Given the description of an element on the screen output the (x, y) to click on. 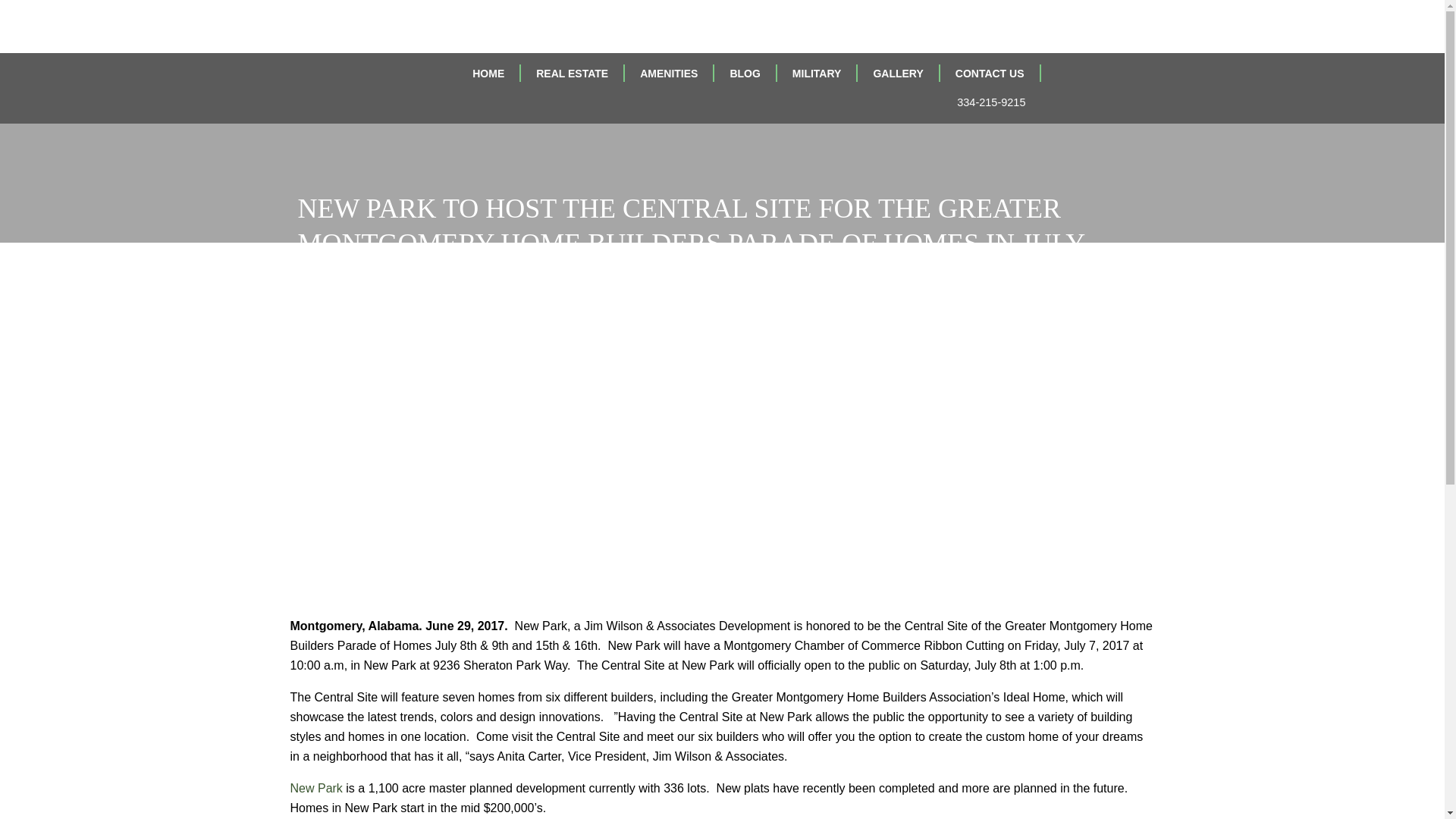
334-215-9215 (983, 102)
AMENITIES (669, 72)
New Park (315, 788)
GALLERY (898, 72)
HOME (489, 72)
BLOG (745, 72)
CONTACT US (990, 72)
MILITARY (818, 72)
REAL ESTATE (572, 72)
